Given the description of an element on the screen output the (x, y) to click on. 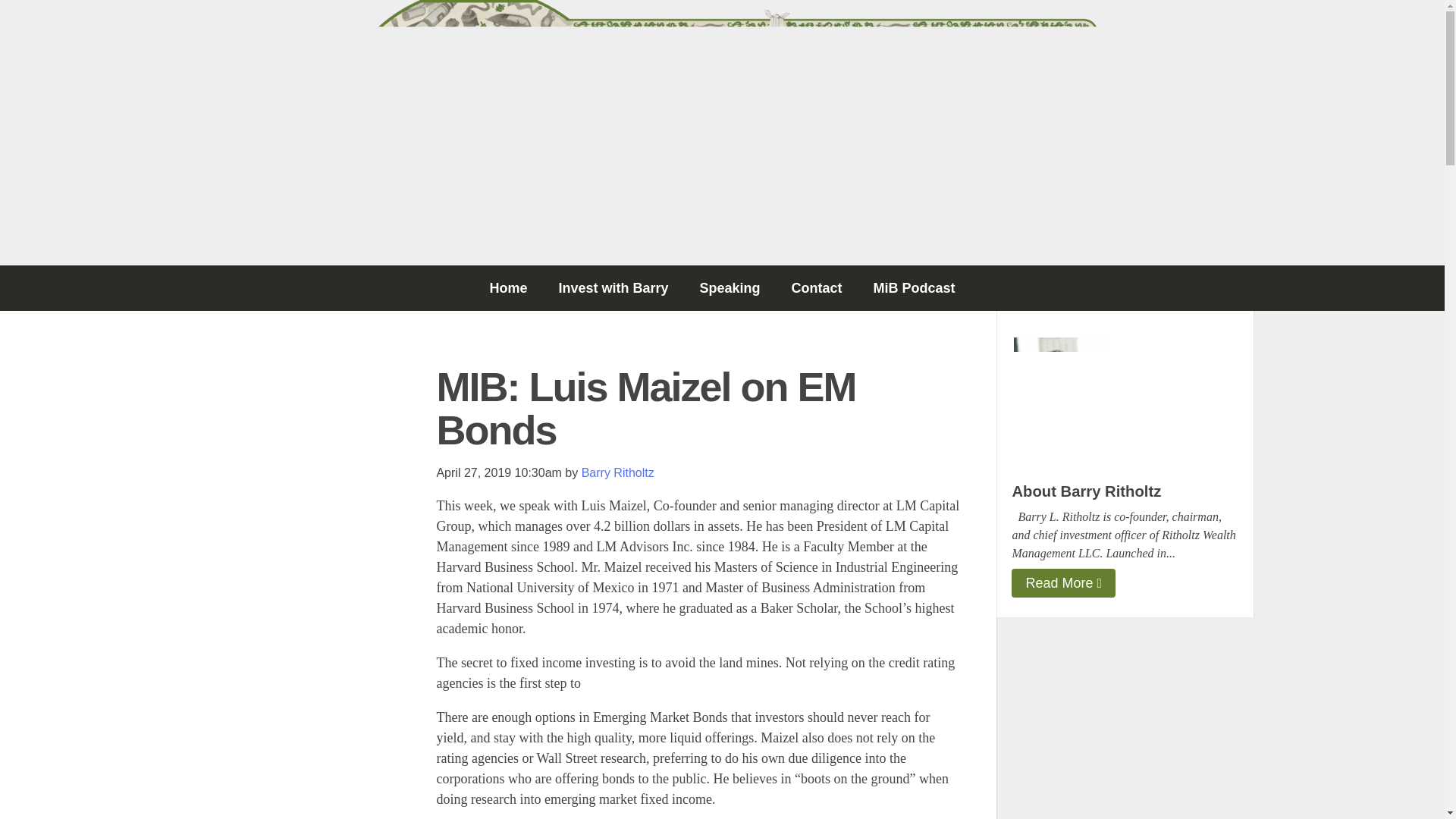
Posts by Barry Ritholtz (616, 472)
Contact (816, 288)
Invest with Barry (612, 288)
MiB Podcast (914, 288)
Barry Ritholtz (616, 472)
Speaking (729, 288)
Home (508, 288)
